Given the description of an element on the screen output the (x, y) to click on. 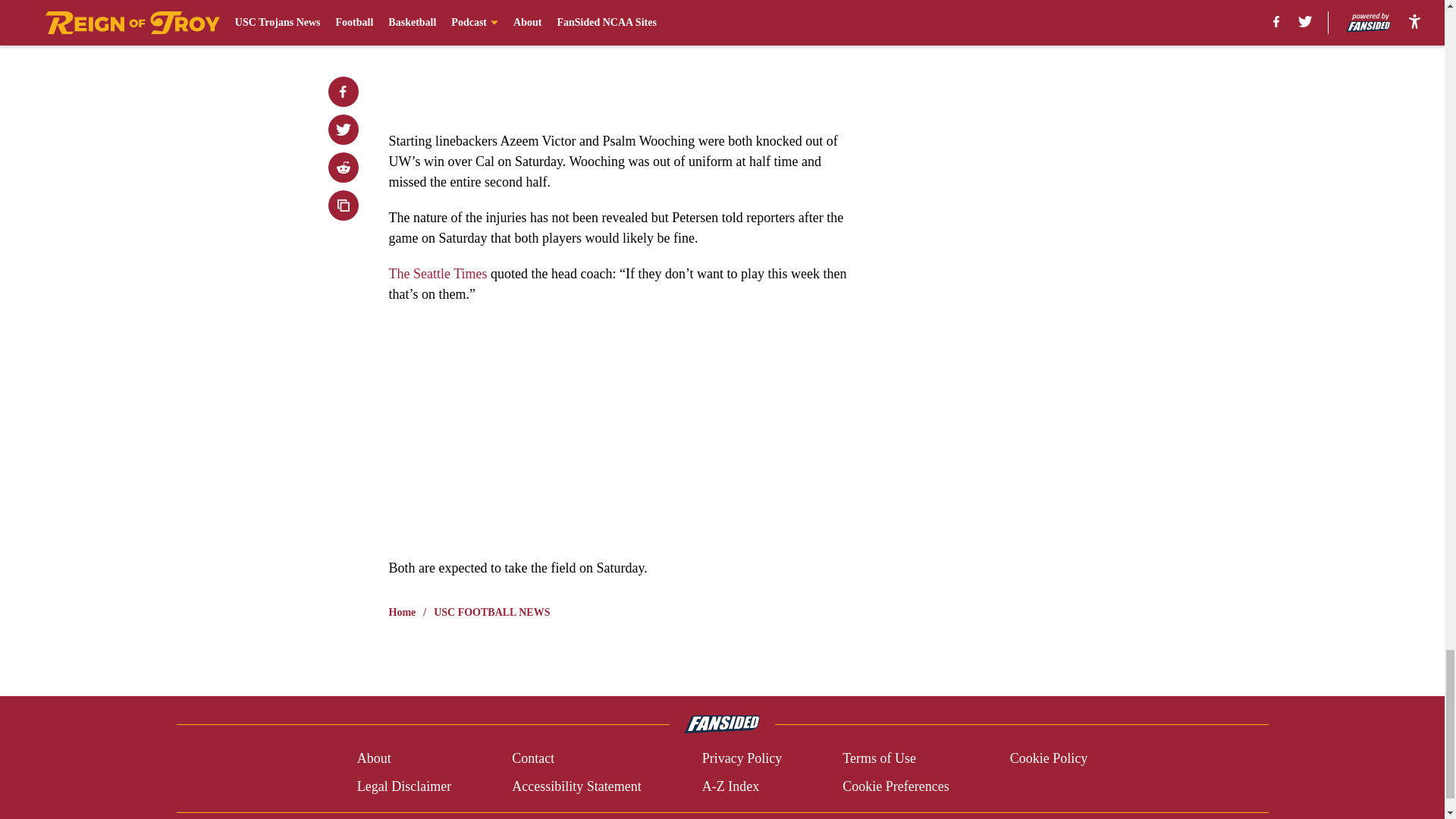
The Seattle Times (437, 273)
Home (401, 612)
USC FOOTBALL NEWS (491, 612)
About (373, 758)
Privacy Policy (742, 758)
Contact (533, 758)
